Given the description of an element on the screen output the (x, y) to click on. 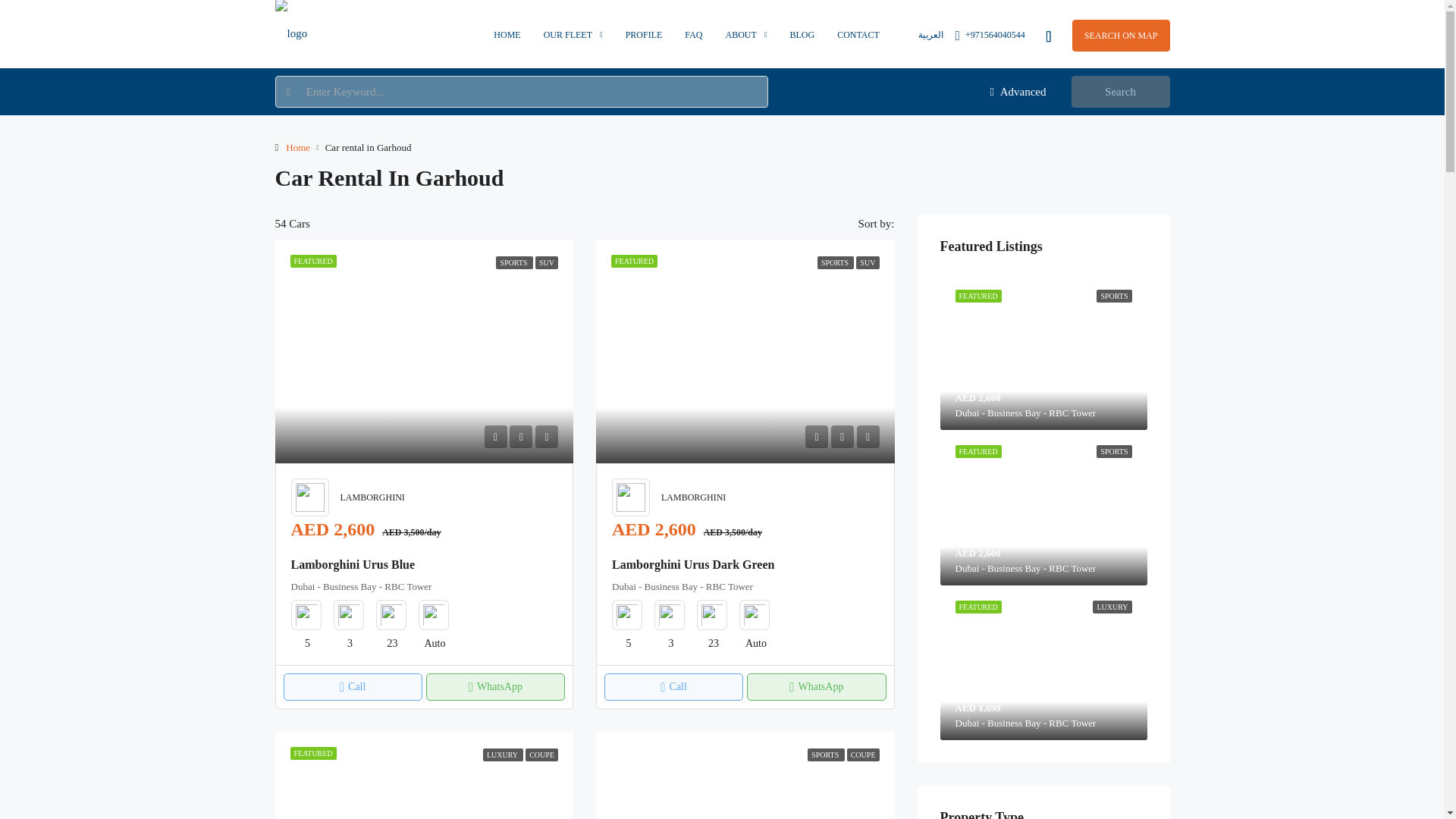
Lamborghini Urus Blue (424, 351)
Favourite (842, 436)
Favourite (520, 436)
Preview (494, 436)
Preview (816, 436)
Add to Compare (868, 436)
Add to Compare (546, 436)
